Given the description of an element on the screen output the (x, y) to click on. 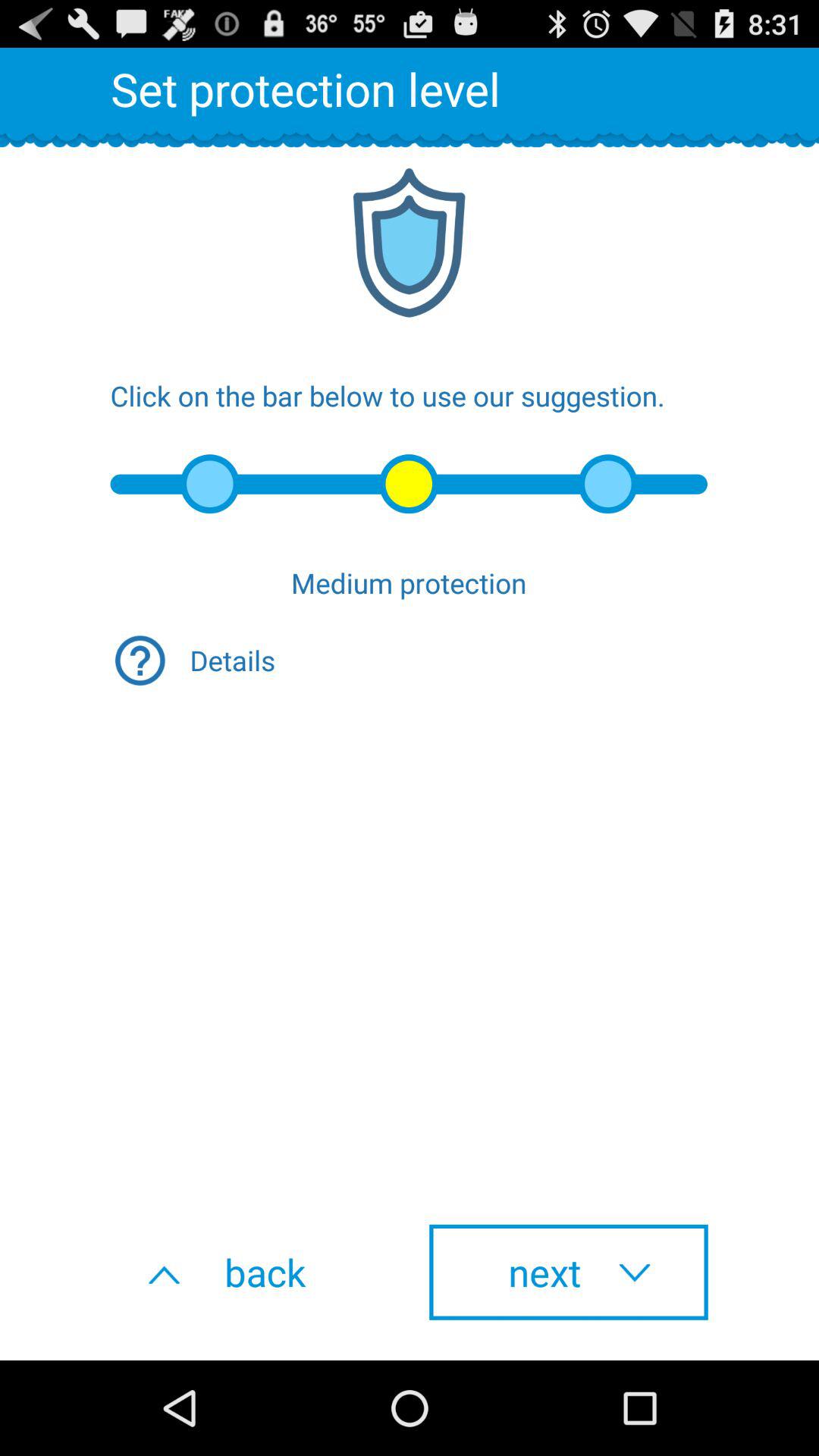
press the button to the right of the back (568, 1272)
